Given the description of an element on the screen output the (x, y) to click on. 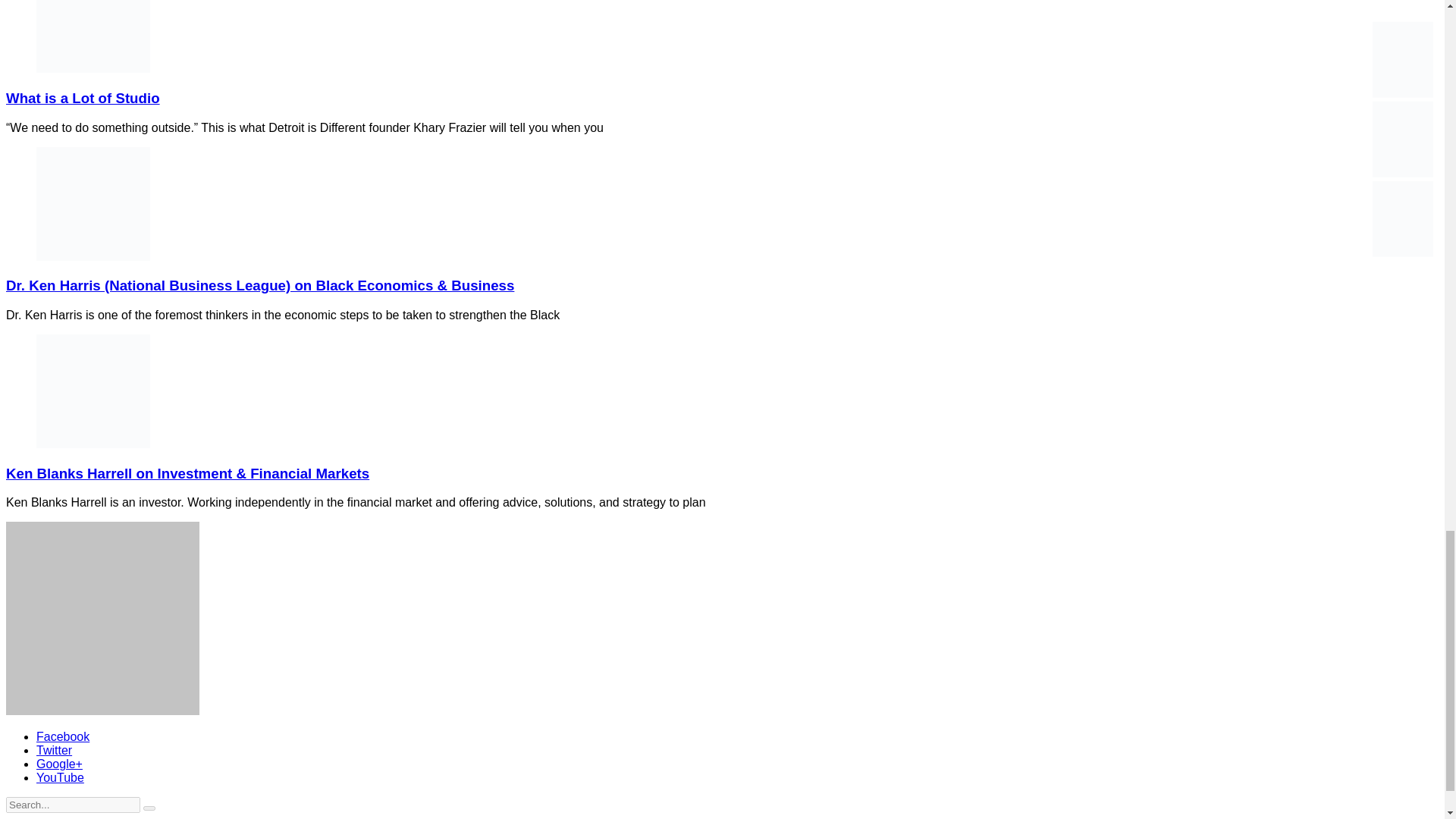
YouTube (60, 777)
Facebook (62, 736)
What is a Lot of Studio (82, 98)
Facebook (62, 736)
Twitter (53, 749)
YouTube (60, 777)
Twitter (53, 749)
